Given the description of an element on the screen output the (x, y) to click on. 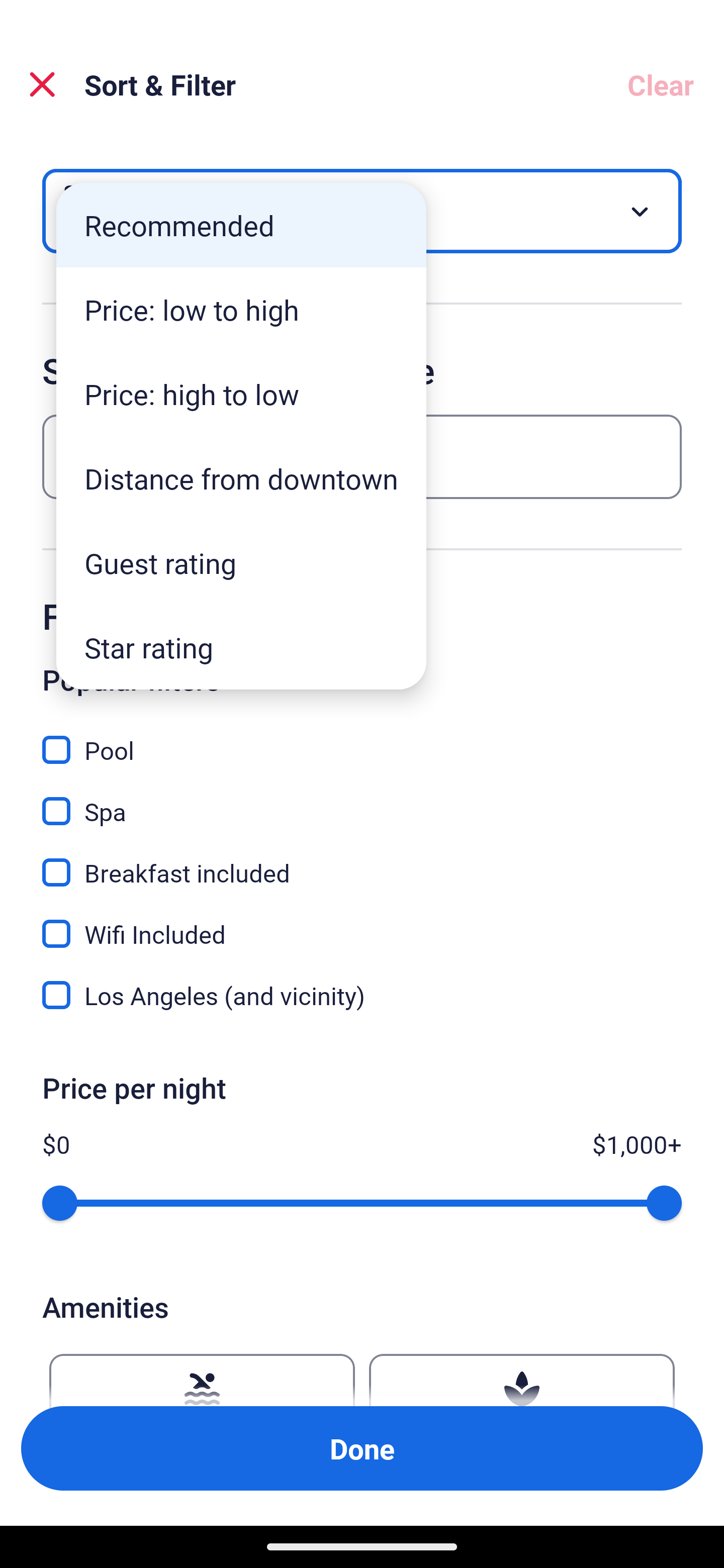
Price: low to high (241, 309)
Price: high to low (241, 393)
Distance from downtown (241, 477)
Guest rating (241, 562)
Star rating (241, 647)
